Given the description of an element on the screen output the (x, y) to click on. 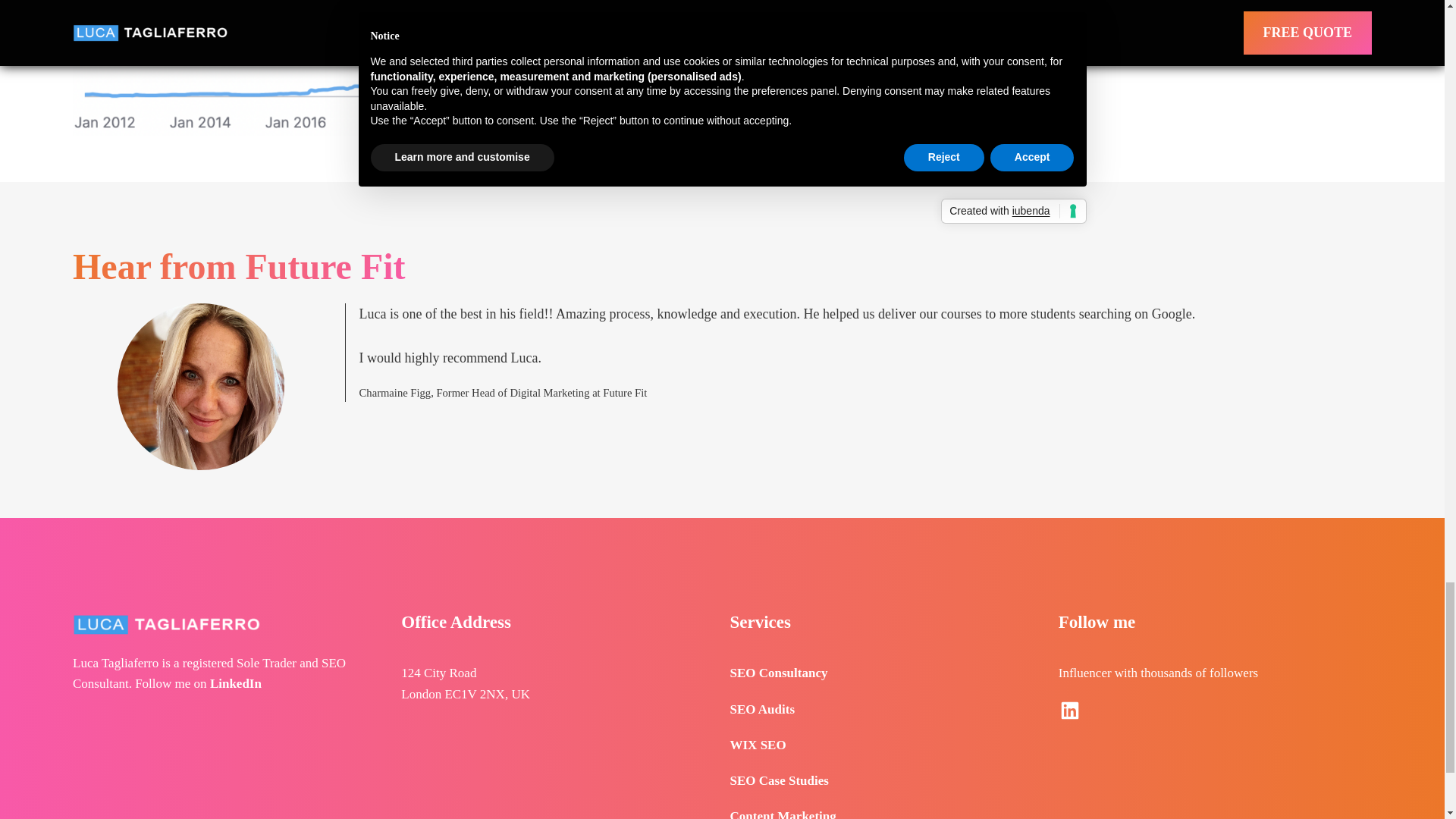
Content Marketing (782, 814)
WIX SEO (757, 744)
LinkedIn (235, 683)
LinkedIn (1069, 710)
SEO Case Studies (778, 780)
SEO Audits (761, 708)
SEO Consultancy (778, 672)
